Given the description of an element on the screen output the (x, y) to click on. 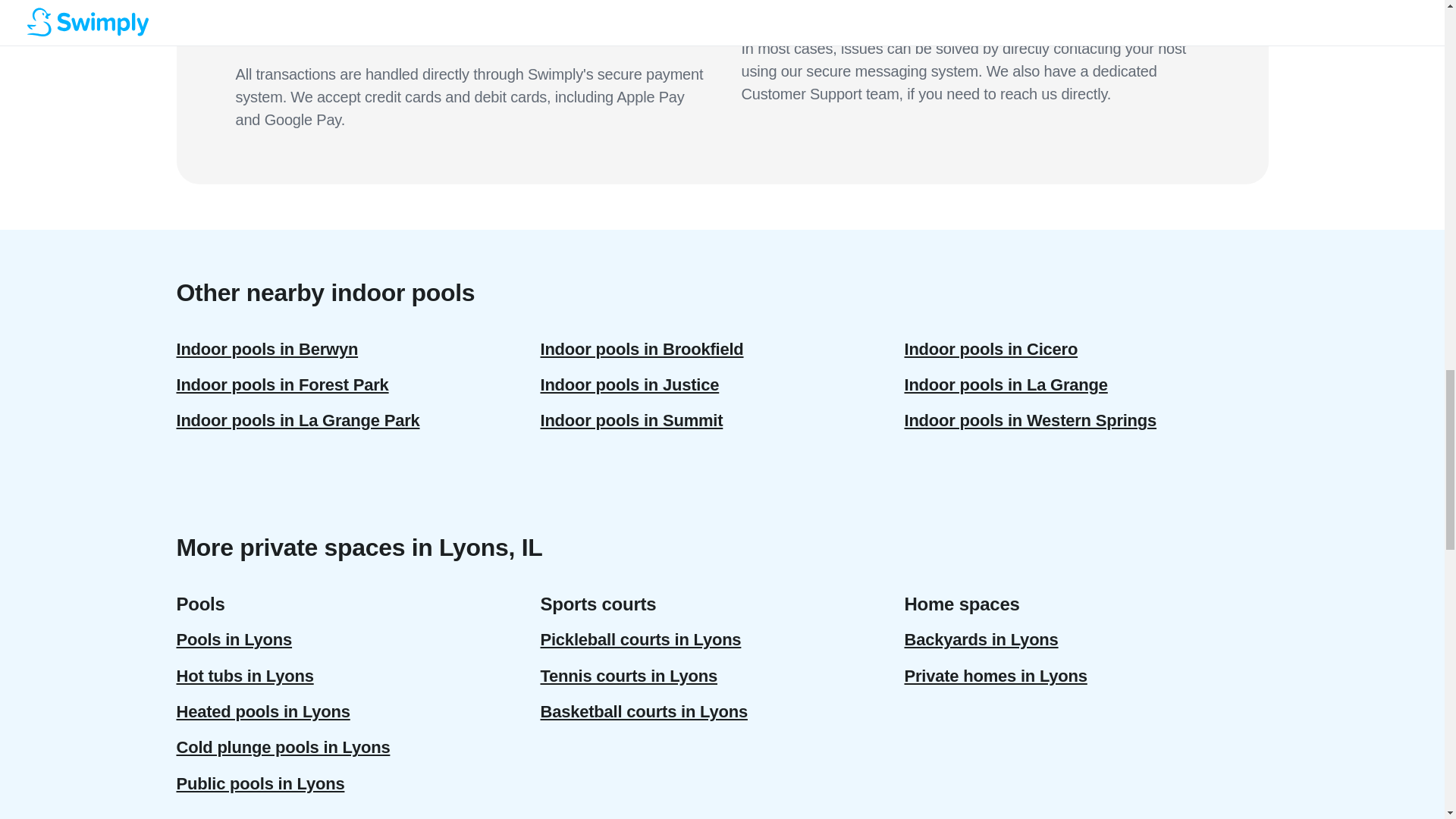
Hot tubs in Lyons (358, 675)
Backyards in Lyons (1086, 639)
Indoor pools in Justice (722, 384)
Basketball courts in Lyons (722, 711)
Cold plunge pools in Lyons (358, 746)
Pools in Lyons (358, 639)
Private homes in Lyons (1086, 675)
Indoor pools in La Grange Park (358, 420)
Indoor pools in Cicero (1086, 348)
Public pools in Lyons (358, 783)
